Given the description of an element on the screen output the (x, y) to click on. 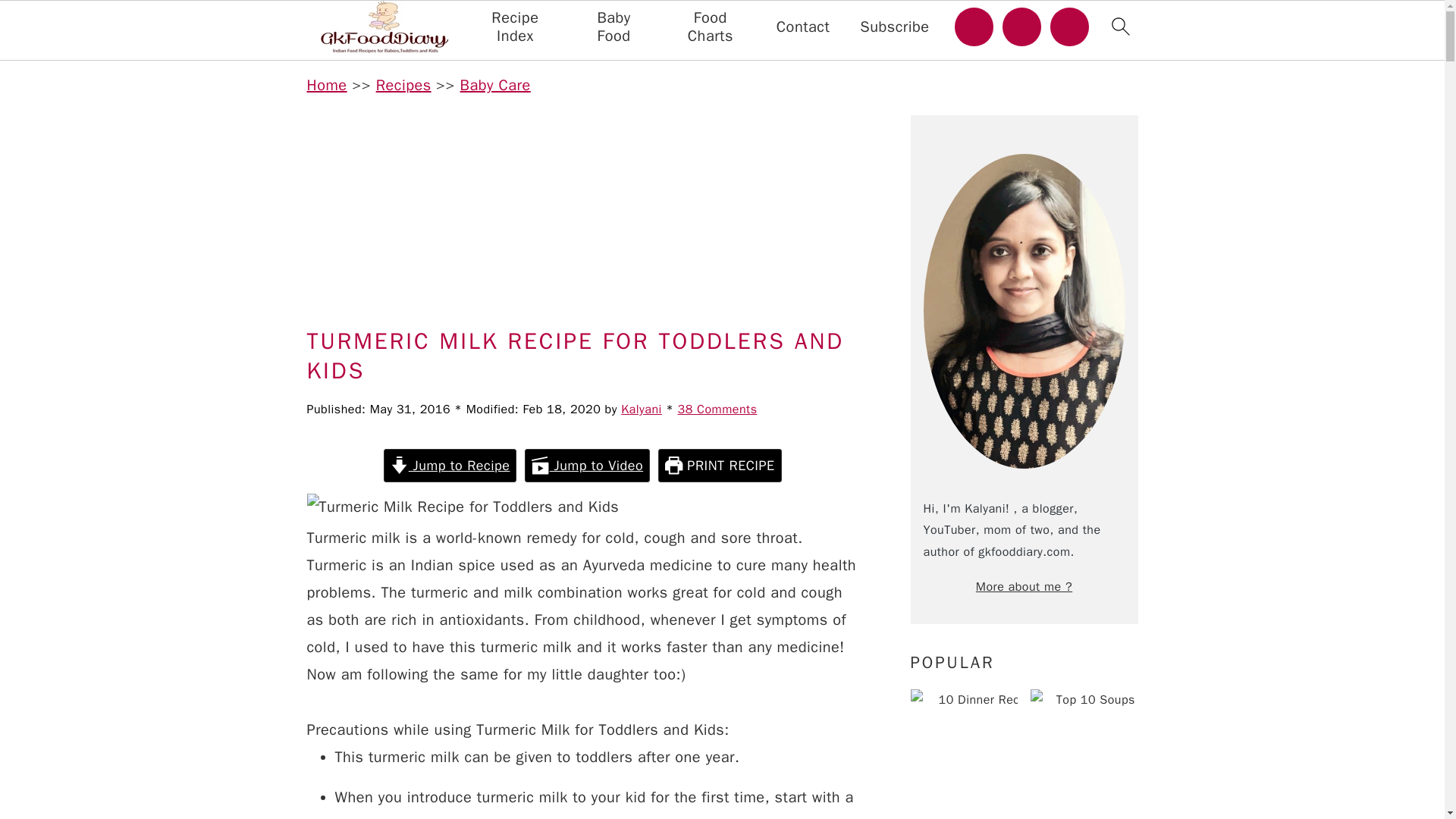
Food Charts (710, 27)
Subscribe (894, 27)
Baby Care (495, 85)
Recipe Index (515, 27)
Kalyani (641, 409)
search icon (1119, 26)
search icon (1119, 30)
Recipes (402, 85)
Contact (802, 27)
Turmeric Milk Recipe (461, 506)
Home (325, 85)
Baby Food (614, 27)
